Given the description of an element on the screen output the (x, y) to click on. 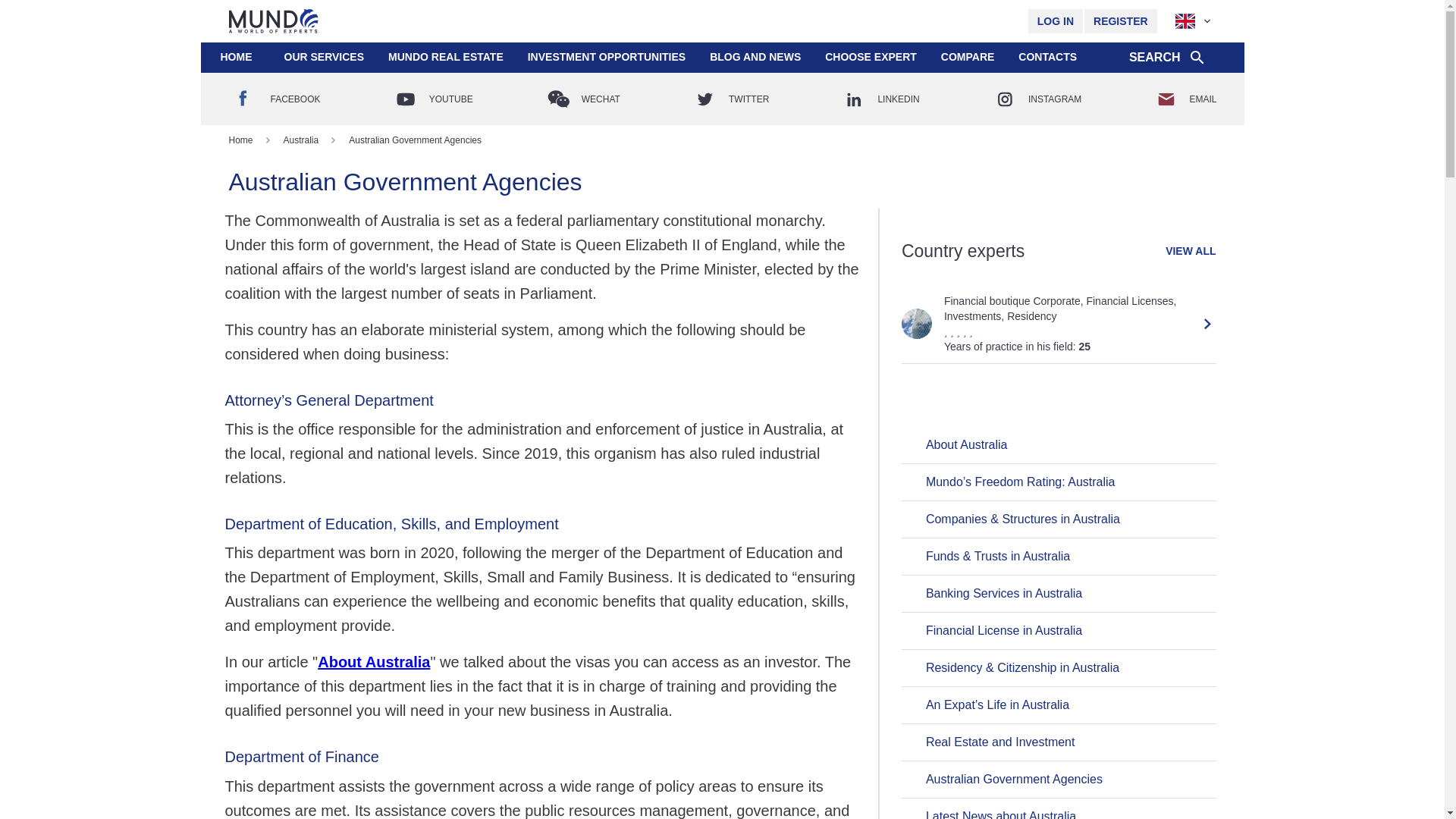
REGISTER (1120, 21)
BLOG AND NEWS (755, 56)
MUNDO REAL ESTATE (445, 57)
HOME (235, 57)
CHOOSE EXPERT (870, 57)
SEARCH (1167, 57)
OUR SERVICES (323, 56)
COMPARE (967, 56)
INVESTMENT OPPORTUNITIES (606, 57)
CONTACTS (1047, 57)
LOG IN (1055, 21)
